Given the description of an element on the screen output the (x, y) to click on. 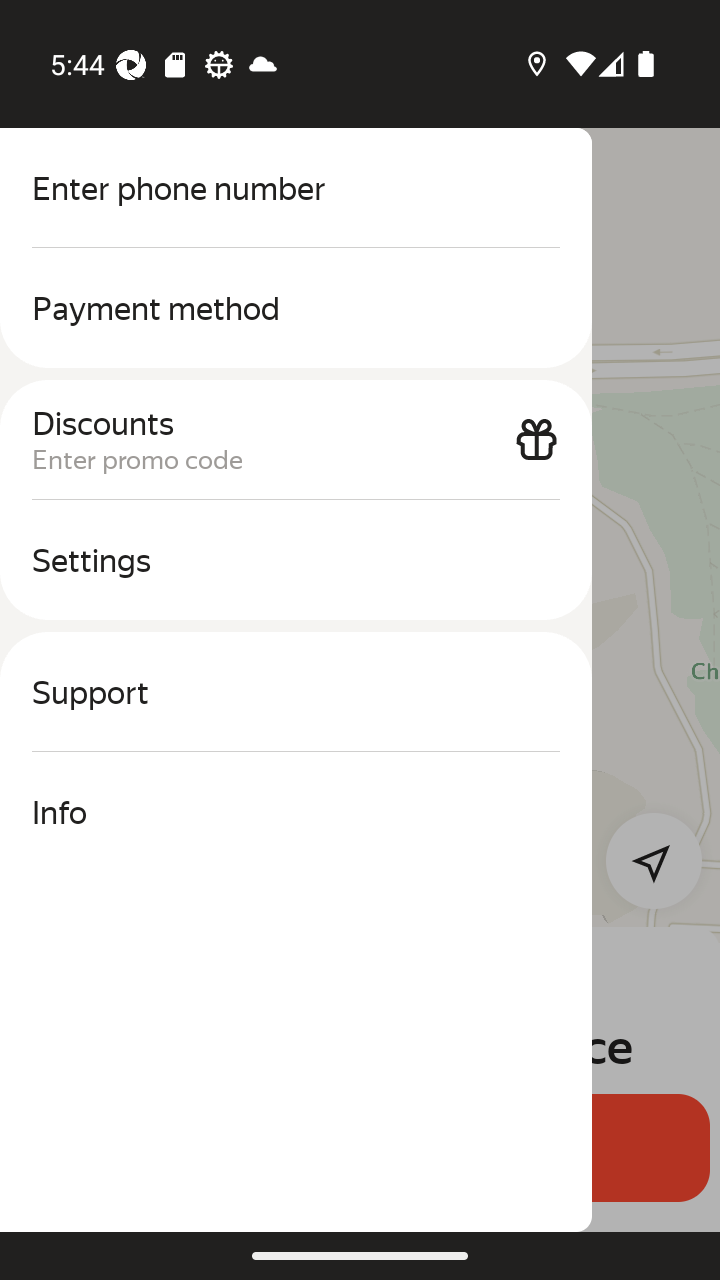
Enter phone number (295, 188)
Payment method (295, 308)
Settings (295, 559)
Support (295, 692)
Info (295, 811)
